Given the description of an element on the screen output the (x, y) to click on. 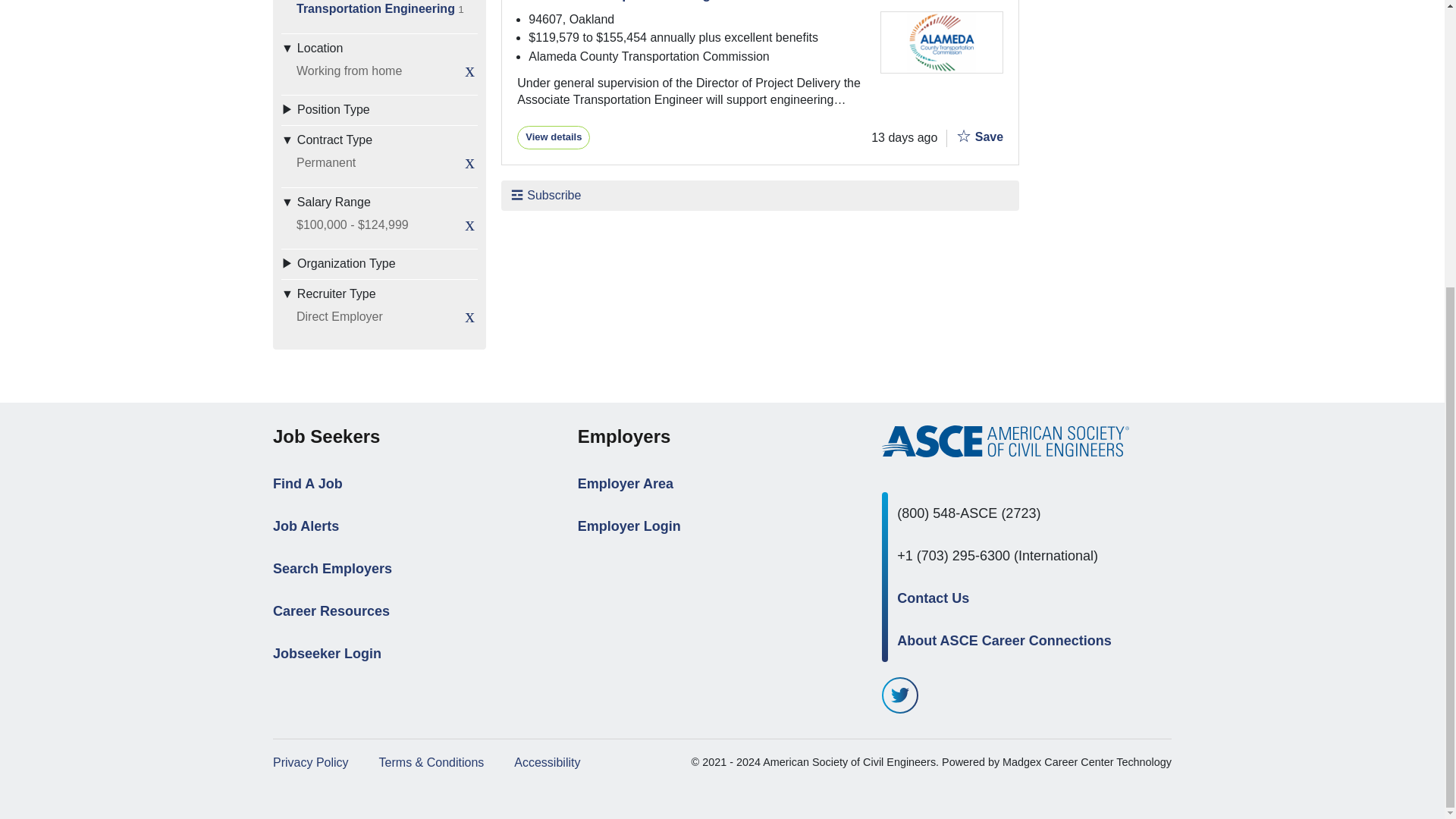
Position Type (379, 109)
Recruiter Type (979, 135)
Remove selection (379, 293)
Add to shortlist (552, 137)
Contract Type (469, 316)
Salary Range (963, 135)
ASCE Career Connections (379, 139)
Remove selection (379, 202)
Location (1005, 441)
Organization Type (469, 224)
Remove selection (379, 48)
Remove selection (379, 263)
